Given the description of an element on the screen output the (x, y) to click on. 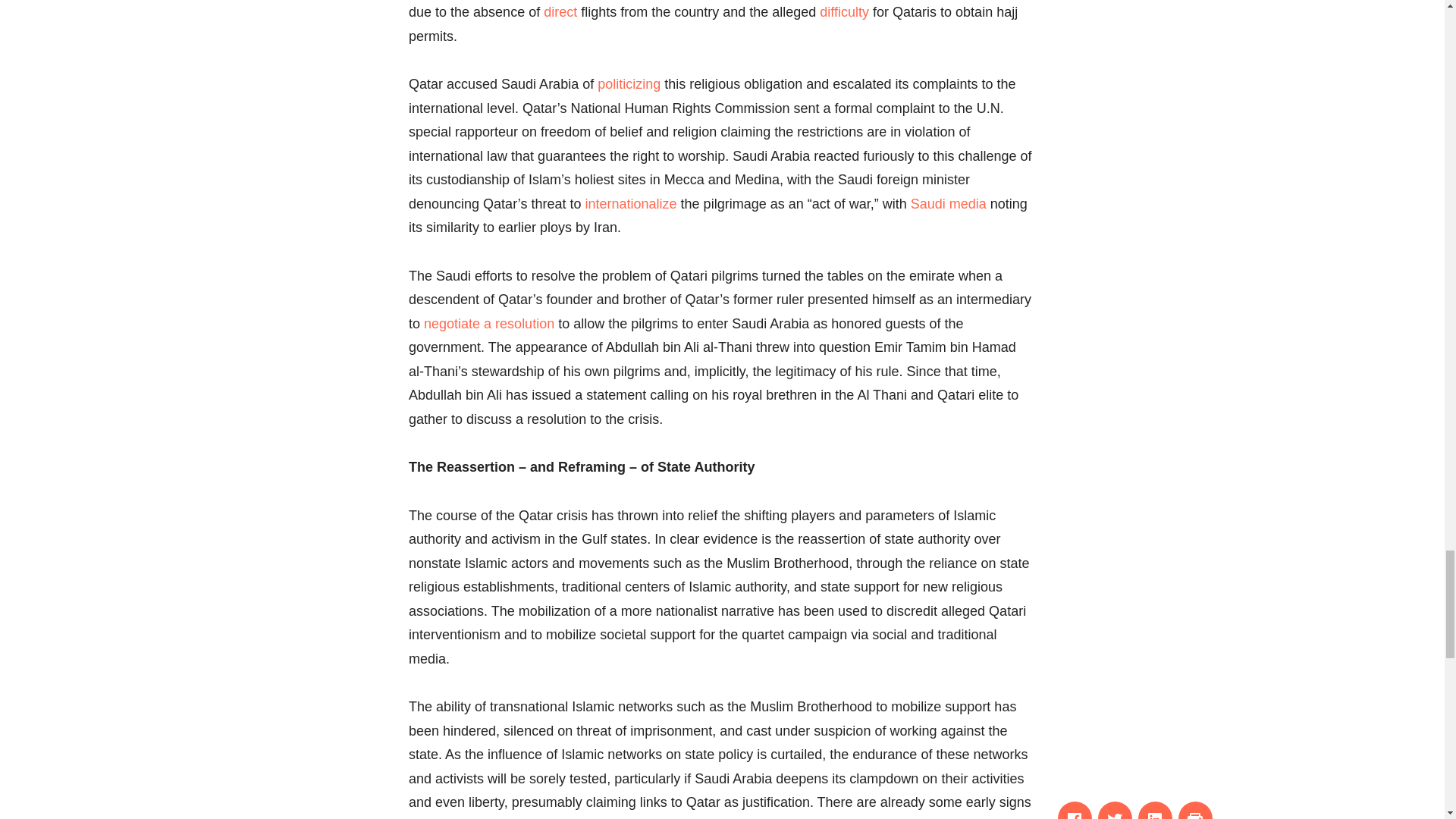
Click to share on Twitter (1114, 810)
Click to share on Facebook (1075, 810)
